Given the description of an element on the screen output the (x, y) to click on. 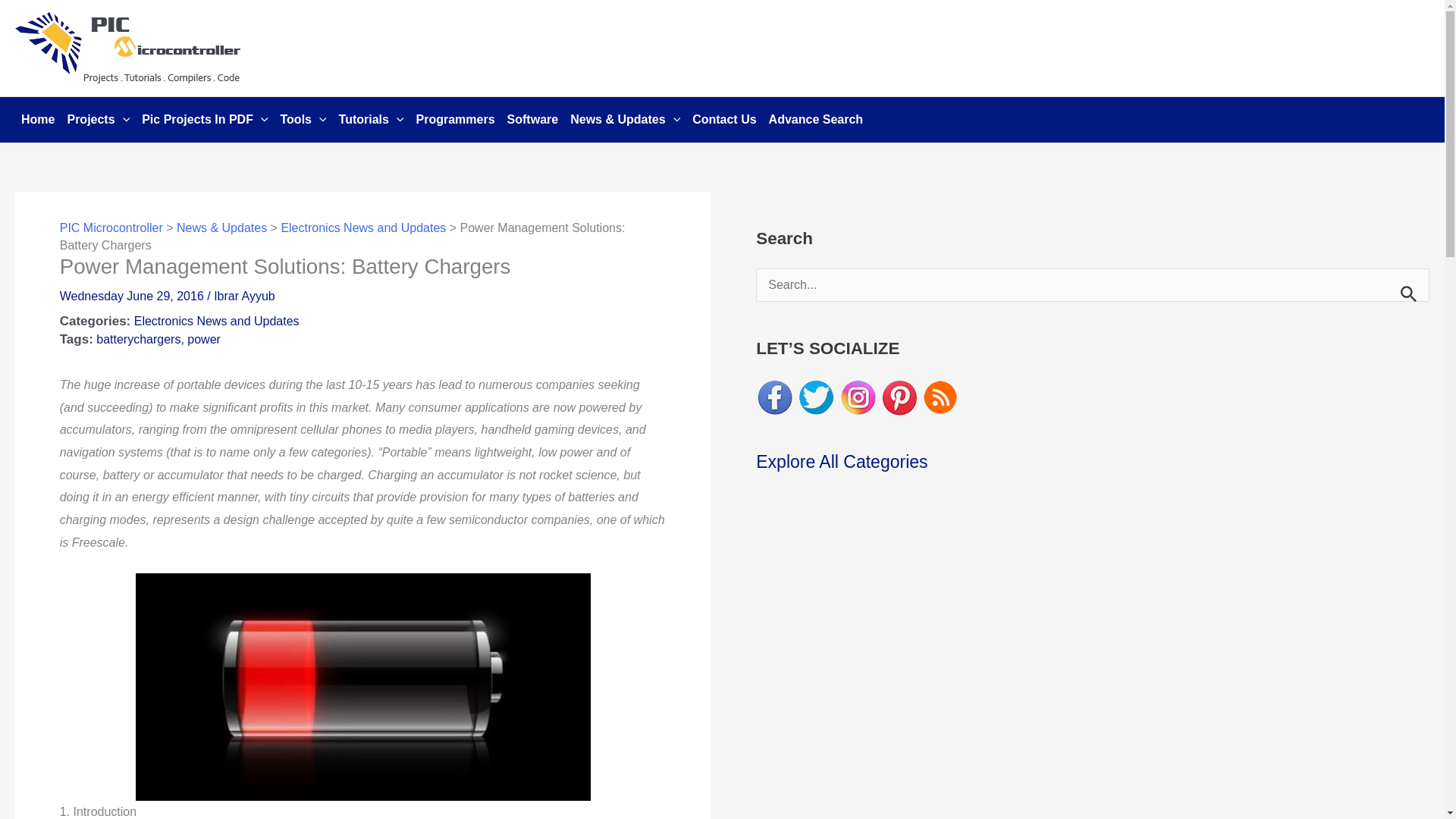
Pic Projects In PDF (204, 119)
Tutorials (371, 119)
Tools (304, 119)
Home (37, 119)
Software (532, 119)
Go to the Electronics News and Updates Category archives. (363, 227)
Programmers (455, 119)
Go to PIC Microcontroller. (111, 227)
Projects (98, 119)
Click to view drop down menu (98, 119)
